Given the description of an element on the screen output the (x, y) to click on. 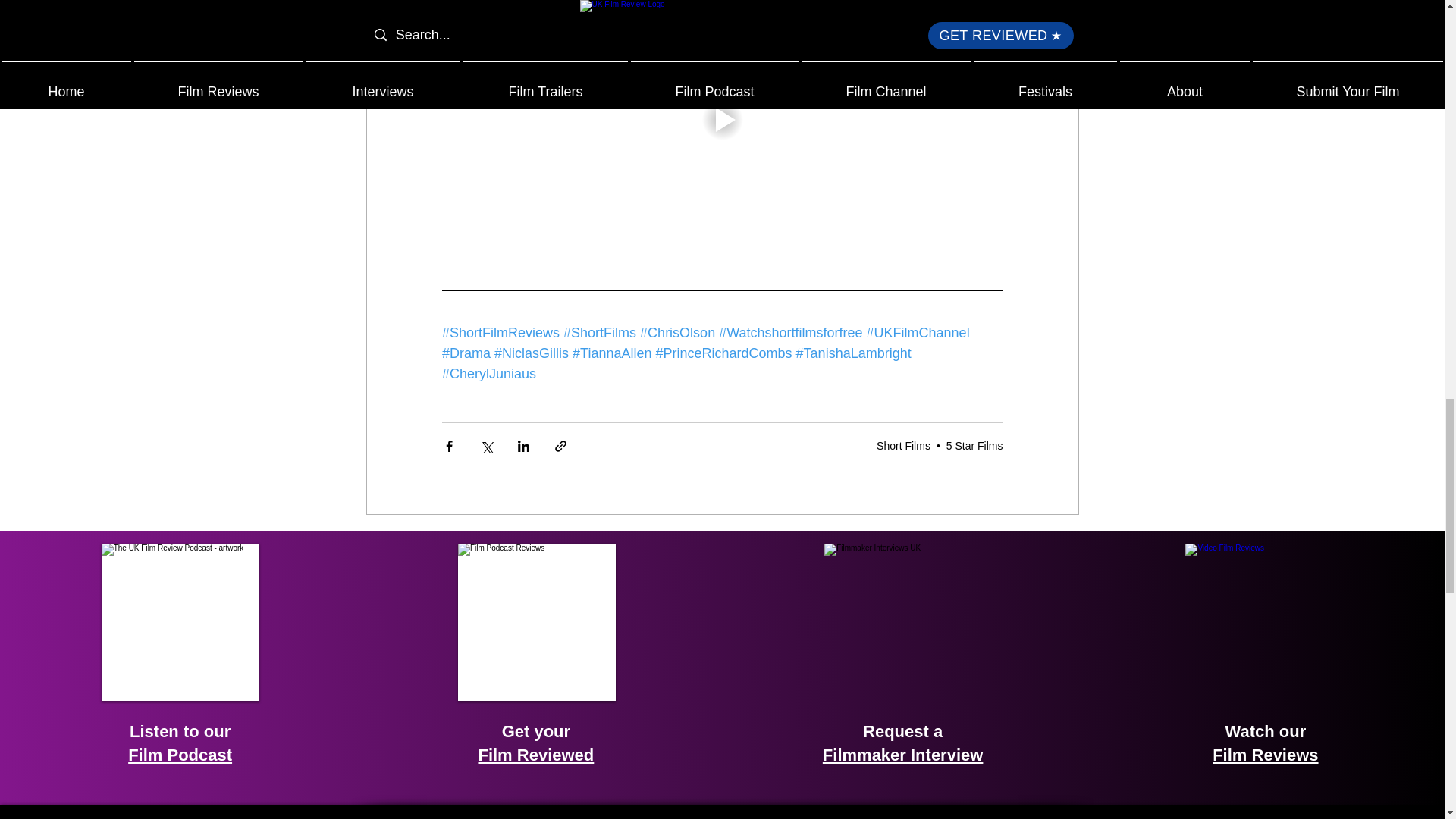
Film Podcast Reviews (536, 622)
The UK Film Review Podcast - artwork (180, 622)
Filmmaker Interviews UK (902, 622)
Video Film Reviews (1263, 622)
